Given the description of an element on the screen output the (x, y) to click on. 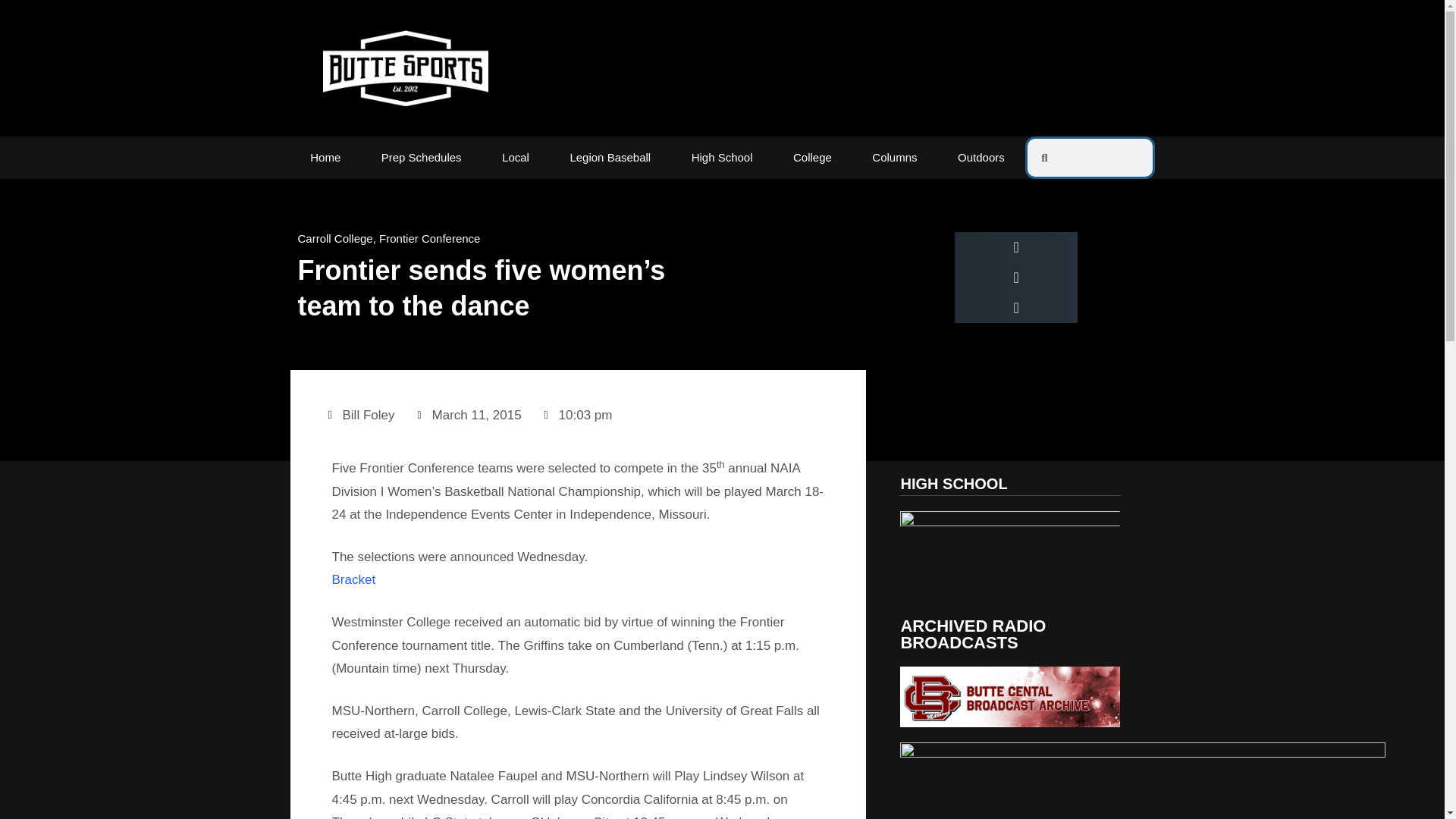
College (812, 157)
Prep Schedules (421, 157)
Legion Baseball (610, 157)
Home (324, 157)
Local (514, 157)
High School (722, 157)
